Given the description of an element on the screen output the (x, y) to click on. 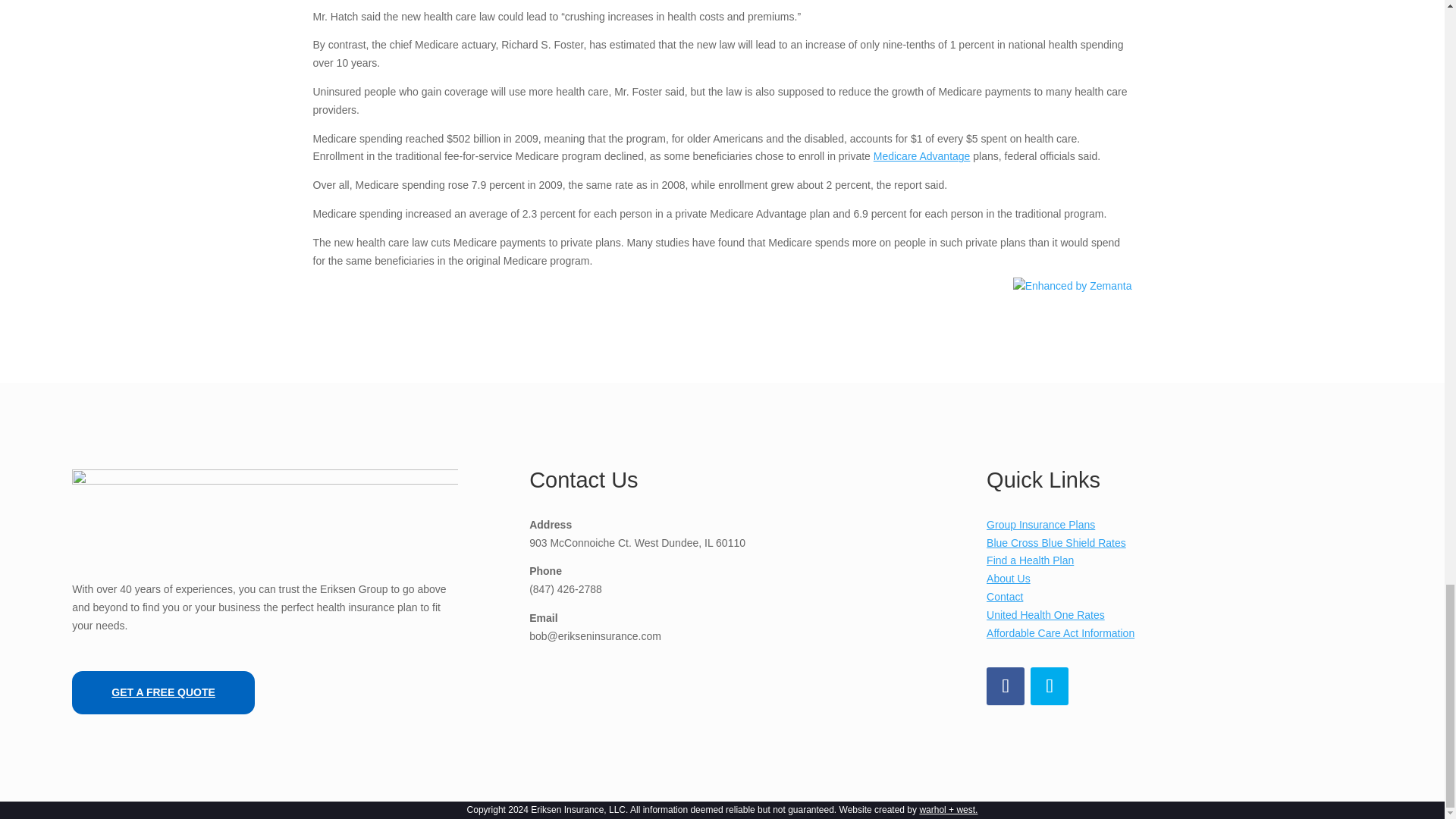
Follow on Facebook (1006, 686)
e-logo-b (264, 507)
Follow on Twitter (1049, 686)
